Given the description of an element on the screen output the (x, y) to click on. 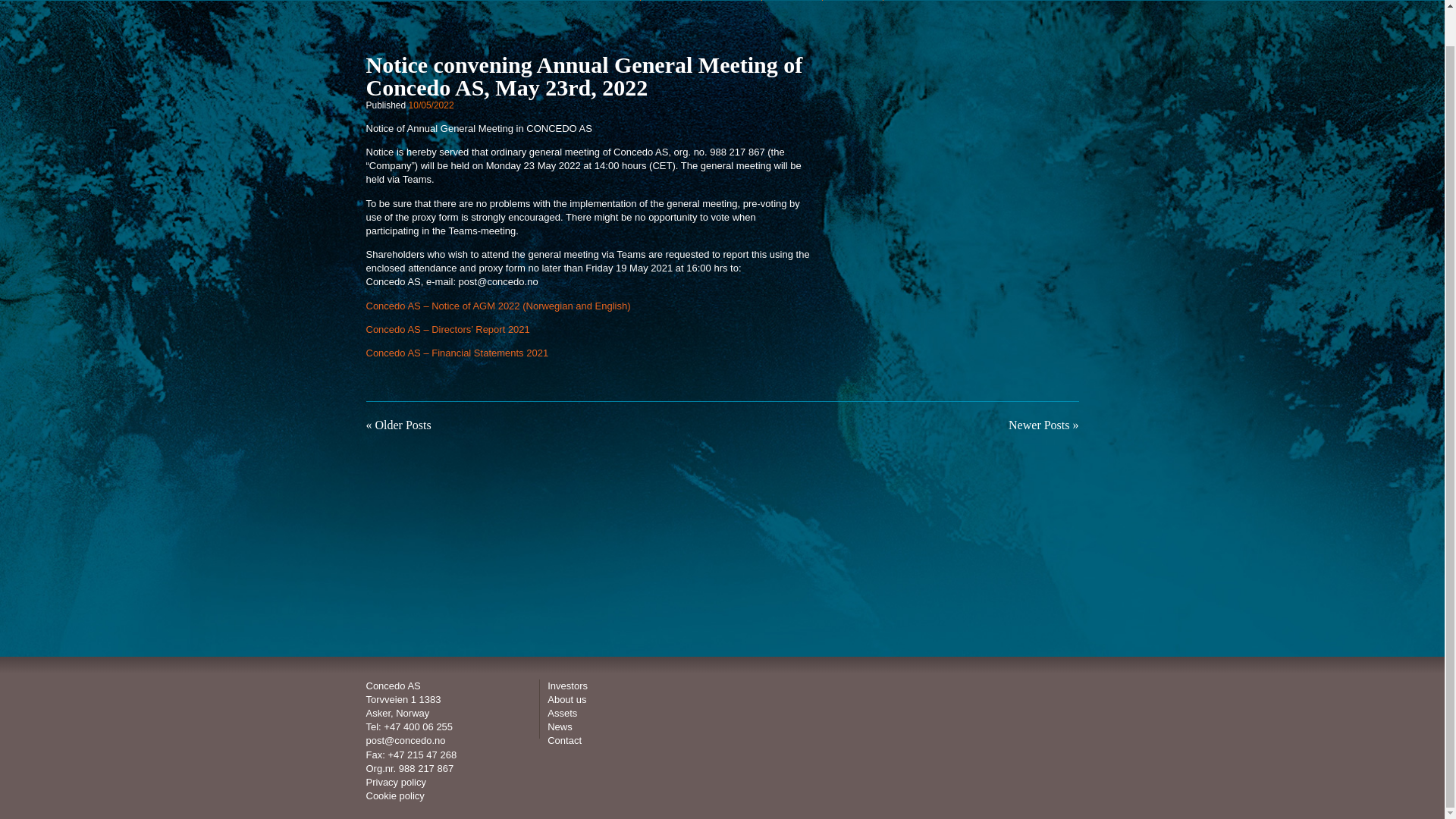
Contact (912, 0)
About us (566, 699)
Assets (561, 713)
News (559, 726)
Privacy policy (395, 781)
News (852, 0)
Cookie policy (394, 795)
Investors (670, 0)
Contact (563, 740)
Older Posts (402, 424)
Investors (567, 685)
Assets (791, 0)
Newer Posts (1038, 424)
About us (730, 0)
